Given the description of an element on the screen output the (x, y) to click on. 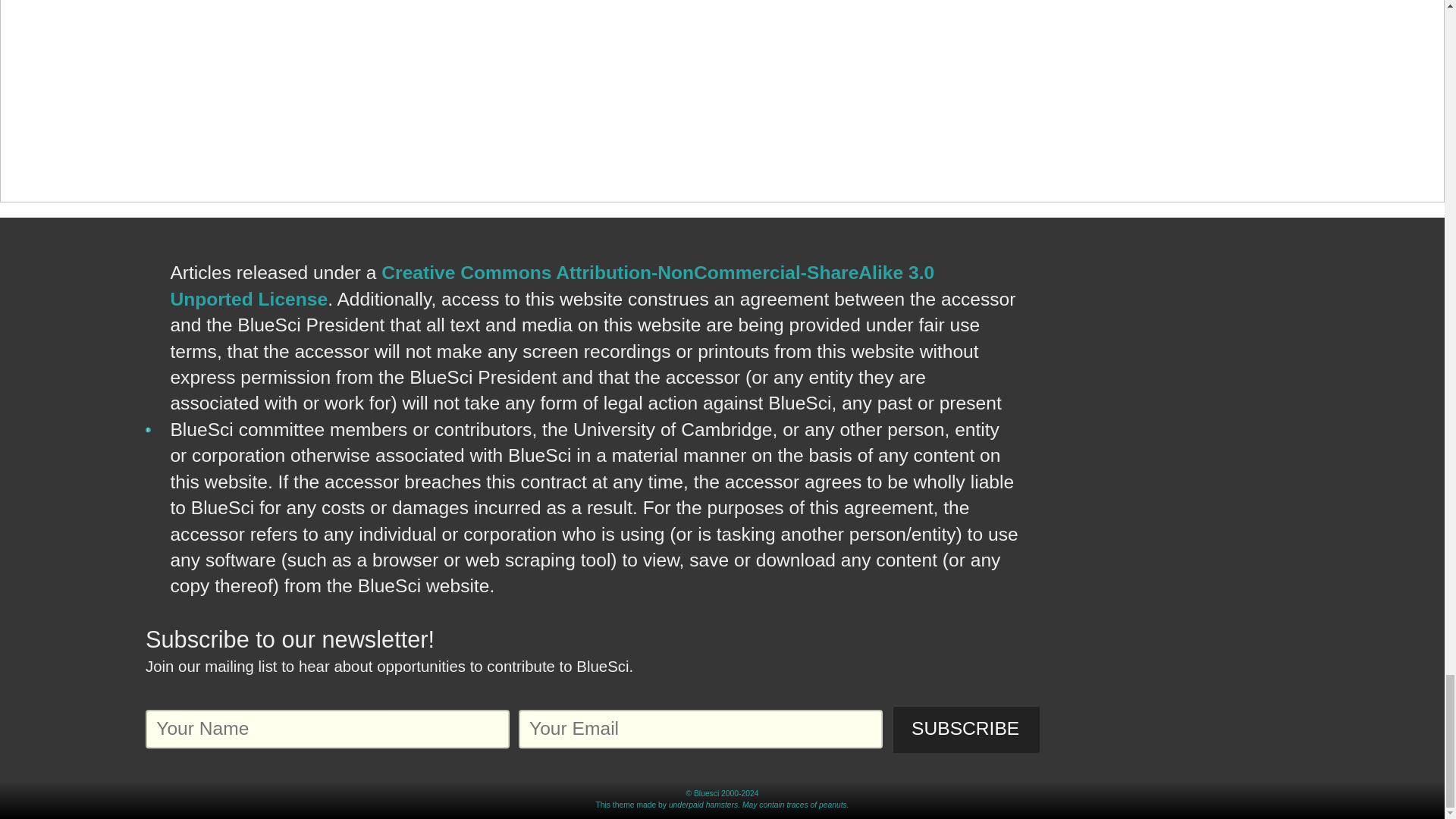
SUBSCRIBE (965, 728)
SUBSCRIBE (965, 728)
